Given the description of an element on the screen output the (x, y) to click on. 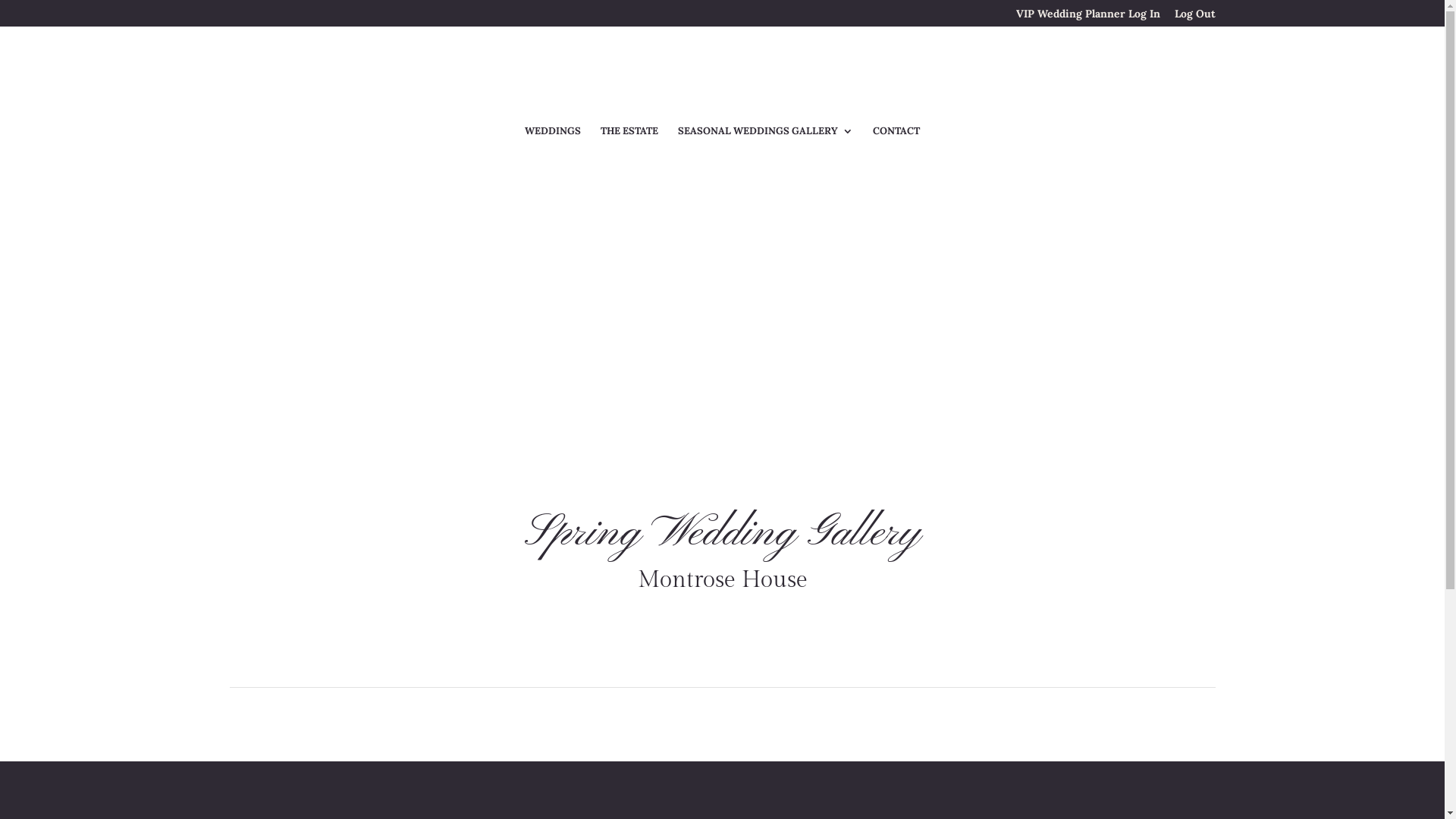
CONTACT Element type: text (895, 139)
Log Out Element type: text (1193, 16)
VIP Wedding Planner Log In Element type: text (1088, 16)
SEASONAL WEDDINGS GALLERY Element type: text (765, 139)
WEDDINGS Element type: text (552, 139)
THE ESTATE Element type: text (629, 139)
